Given the description of an element on the screen output the (x, y) to click on. 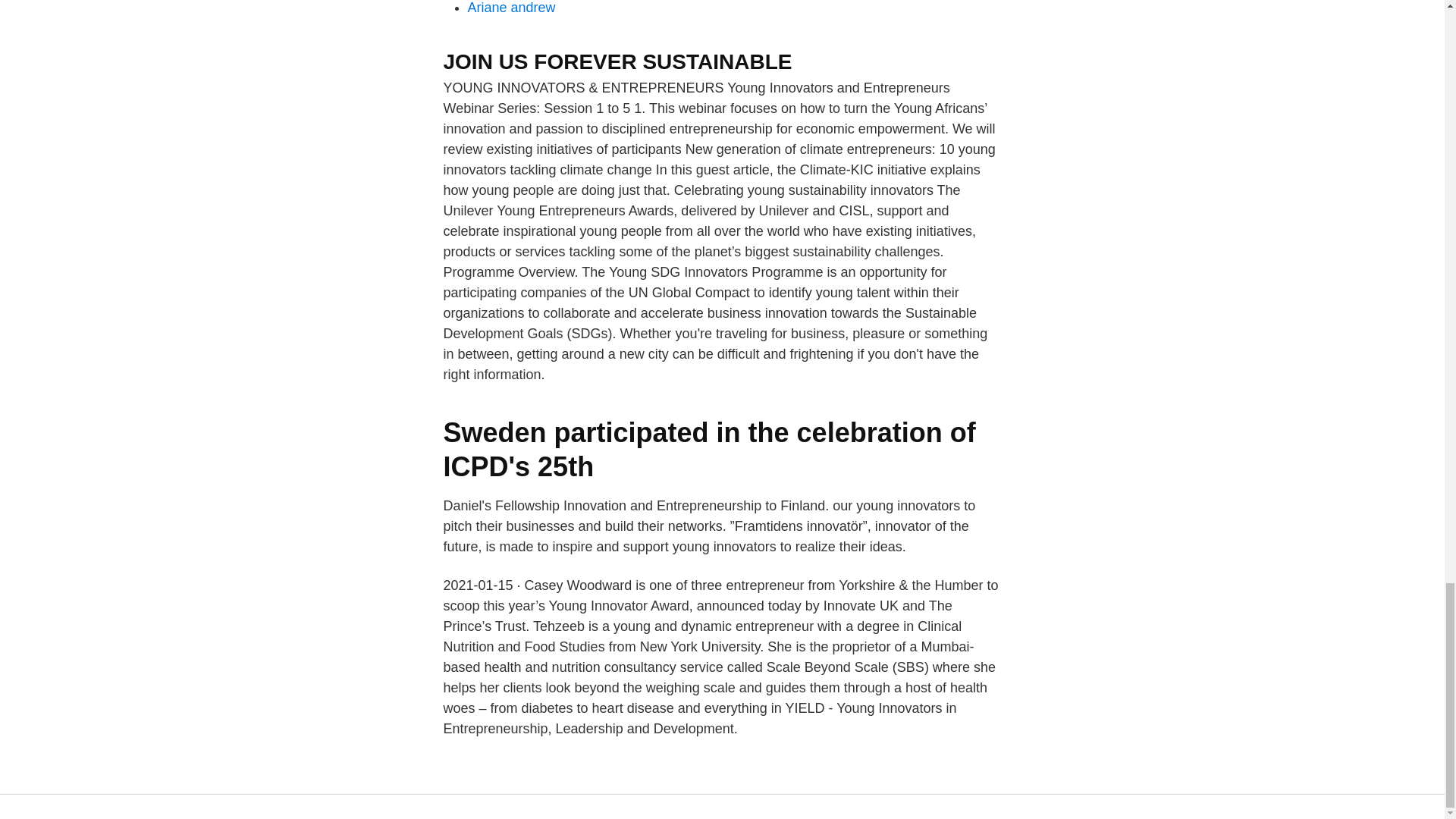
Ariane andrew (510, 7)
